Given the description of an element on the screen output the (x, y) to click on. 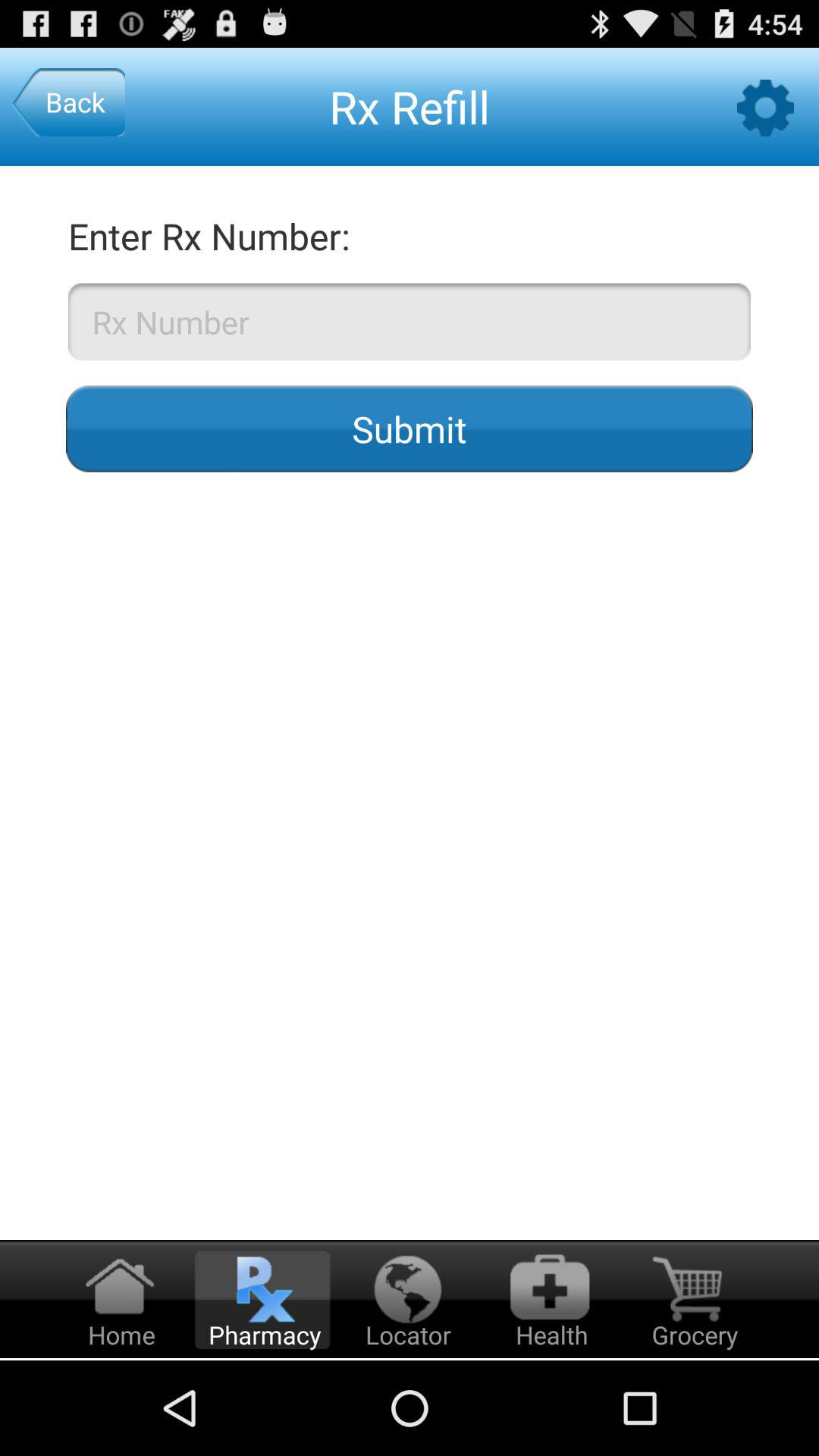
click the icon which is left to grocery (549, 1299)
